Given the description of an element on the screen output the (x, y) to click on. 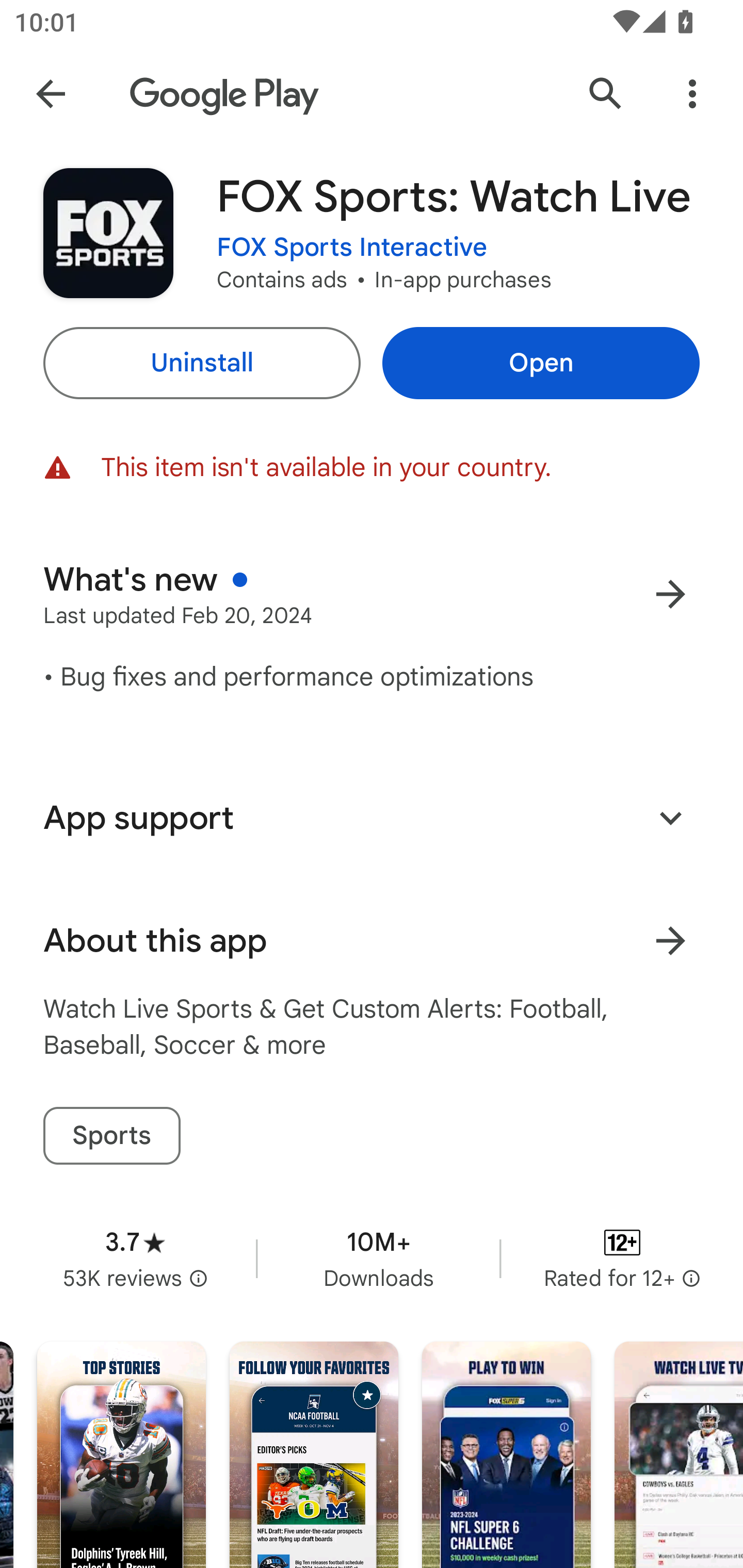
Navigate up (50, 93)
Search Google Play (605, 93)
More Options (692, 93)
FOX Sports Interactive (351, 247)
Uninstall (201, 362)
Open (540, 362)
More results for What's new (670, 594)
App support Expand (371, 817)
Expand (670, 817)
About this app Learn more About this app (371, 940)
Learn more About this app (670, 940)
Sports tag (111, 1135)
Average rating 3.7 stars in 53 thousand reviews (135, 1258)
Content rating Rated for 12+ (622, 1258)
Screenshot "1" of "5" (121, 1455)
Screenshot "2" of "5" (313, 1455)
Screenshot "3" of "5" (506, 1455)
Screenshot "4" of "5" (678, 1455)
